Given the description of an element on the screen output the (x, y) to click on. 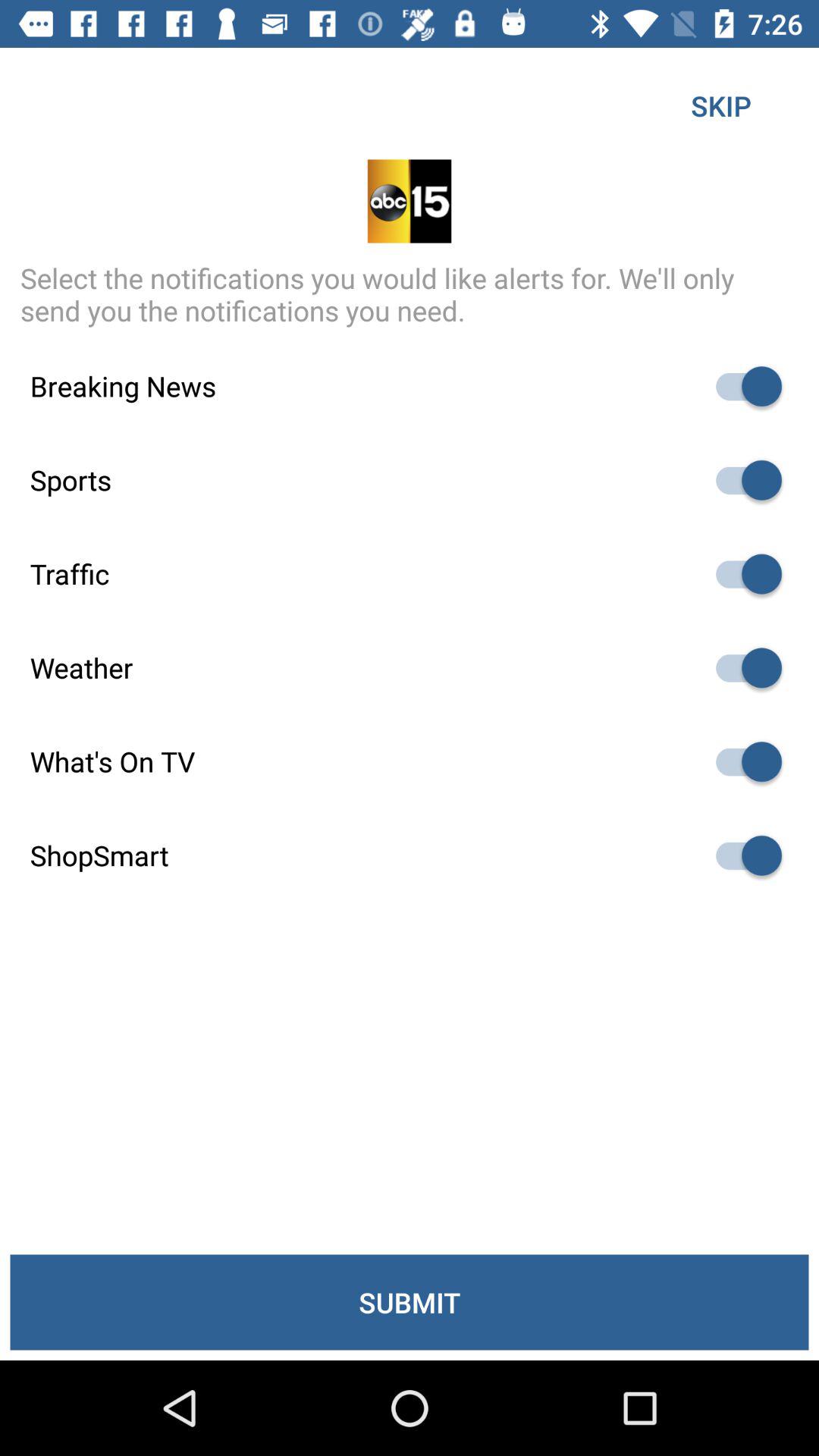
toggle breaking news (741, 386)
